Given the description of an element on the screen output the (x, y) to click on. 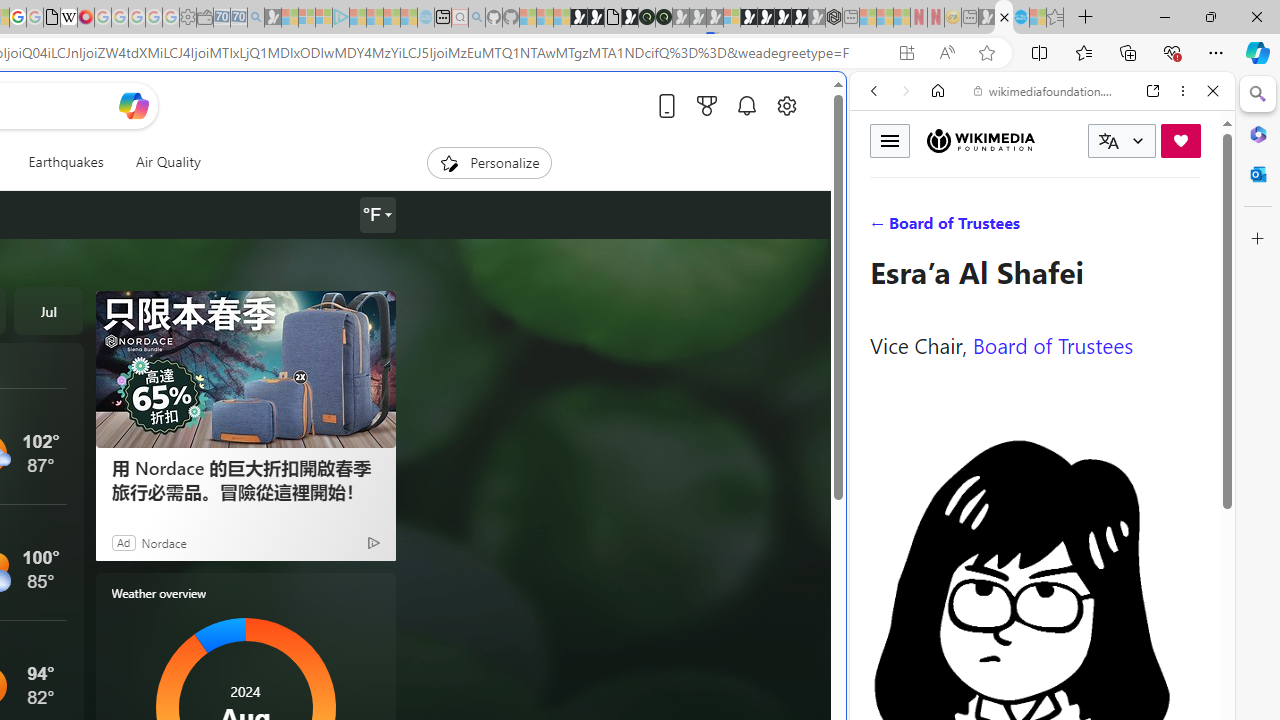
VIDEOS (1006, 228)
Search Filter, WEB (882, 228)
Jul (48, 310)
Cheap Car Rentals - Save70.com - Sleeping (238, 17)
